Given the description of an element on the screen output the (x, y) to click on. 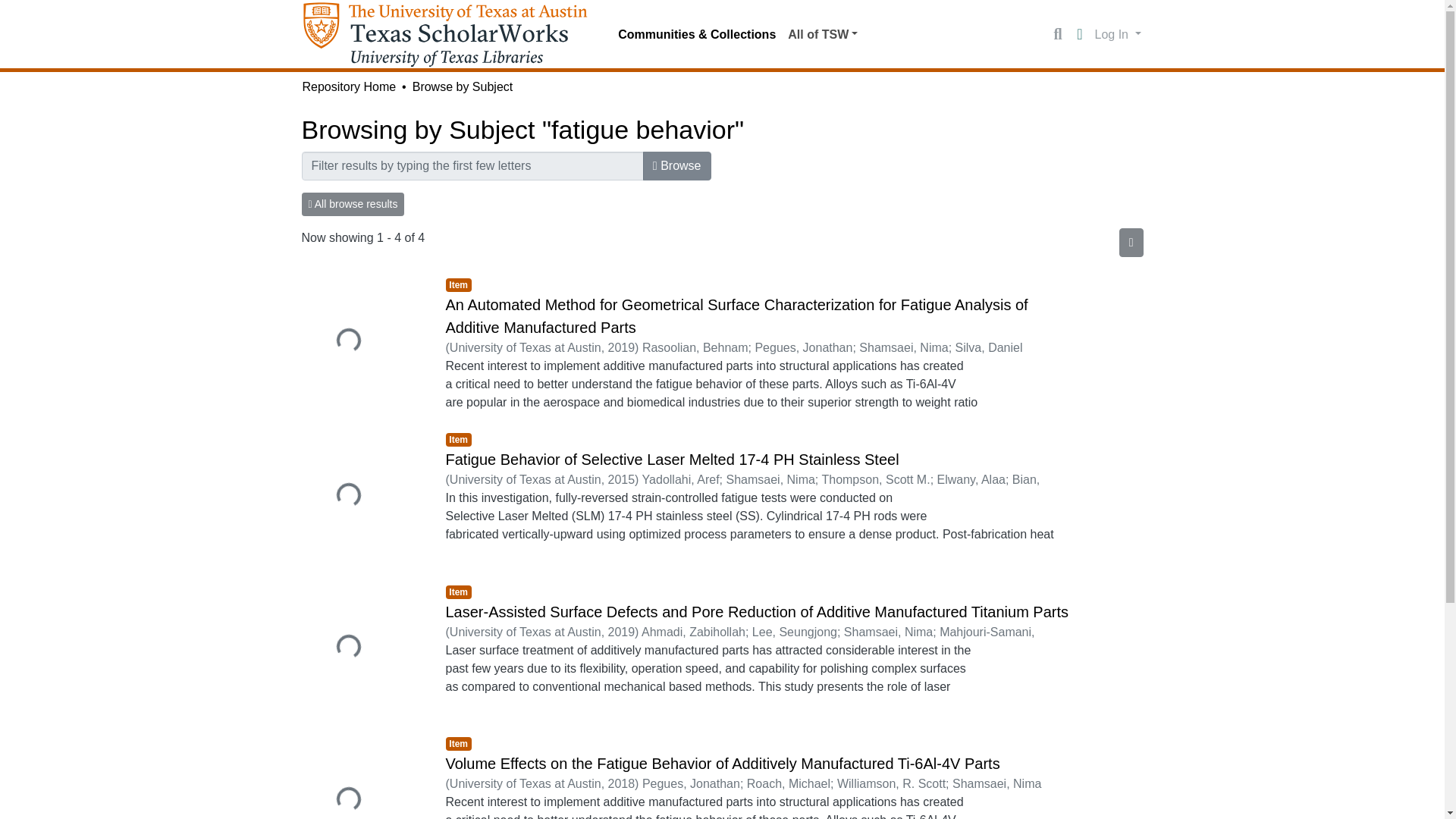
Pagination options (1130, 242)
Log In (1117, 33)
All browse results (352, 204)
Loading... (362, 342)
Loading... (362, 496)
All of TSW (822, 34)
Repository Home (348, 86)
Language switch (1079, 34)
Search (1057, 34)
Browse (677, 165)
